Given the description of an element on the screen output the (x, y) to click on. 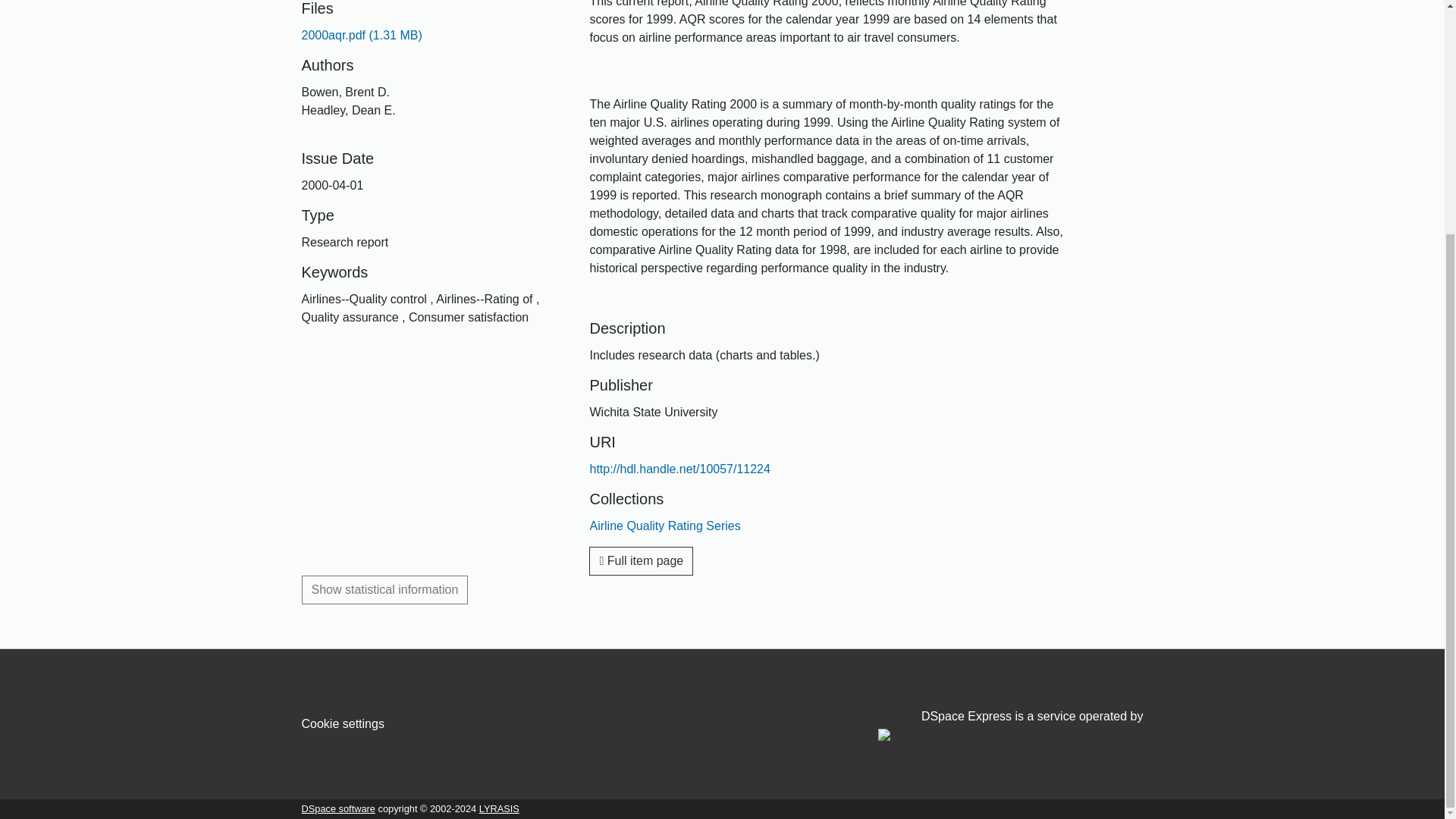
Full item page (641, 561)
DSpace software (338, 808)
Show statistical information (384, 589)
Cookie settings (342, 723)
LYRASIS (499, 808)
Airline Quality Rating Series (664, 525)
DSpace Express is a service operated by (1009, 726)
